Given the description of an element on the screen output the (x, y) to click on. 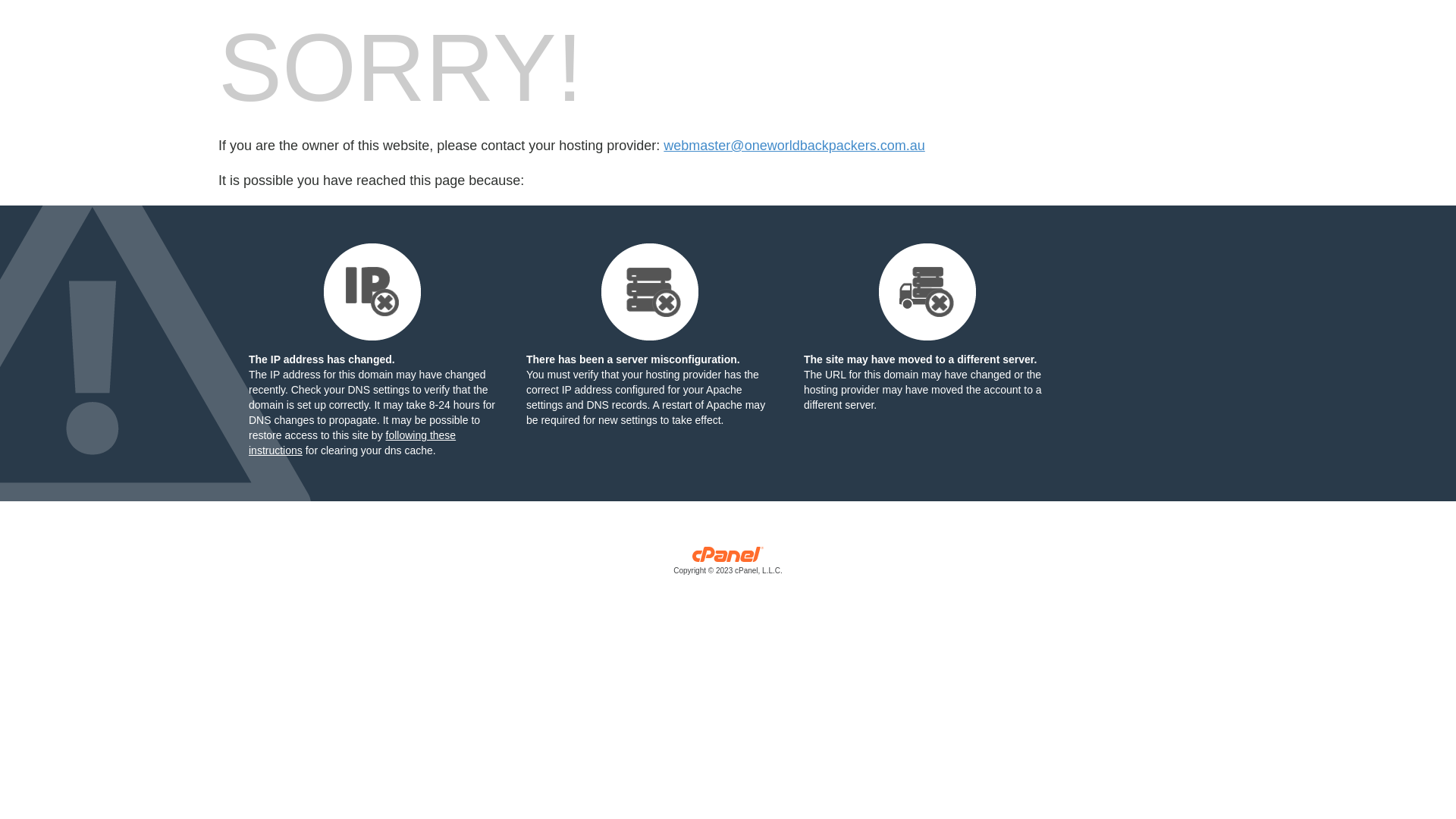
webmaster@oneworldbackpackers.com.au Element type: text (793, 145)
following these instructions Element type: text (351, 442)
